Given the description of an element on the screen output the (x, y) to click on. 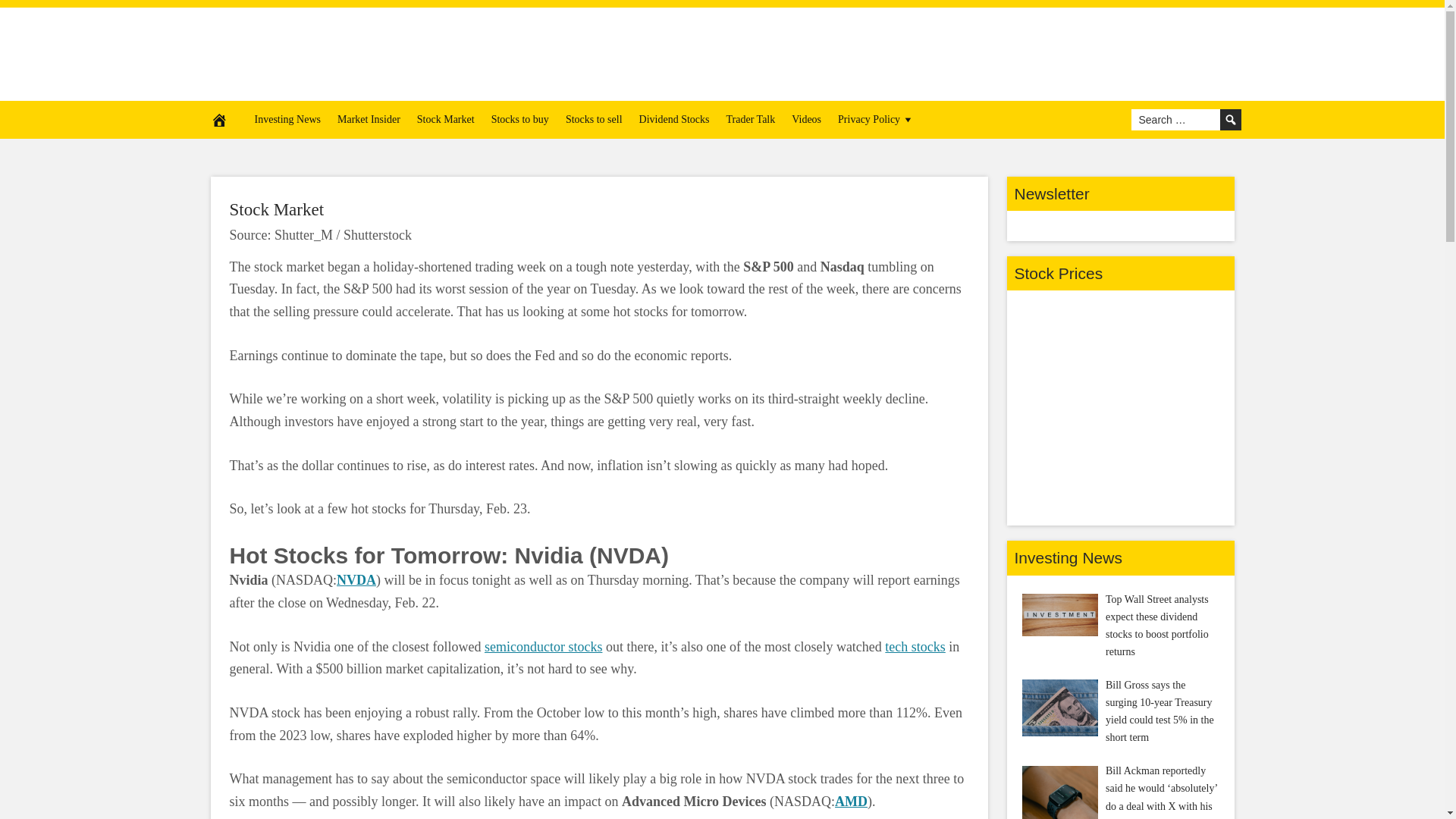
Privacy Policy (876, 119)
Trader Talk (750, 119)
Videos (806, 119)
Stock Market (446, 119)
semiconductor stocks (543, 645)
tech stocks (914, 645)
Market Insider (369, 119)
Stock Market (275, 209)
Dividend Stocks (673, 119)
Stocks to buy (520, 119)
